Given the description of an element on the screen output the (x, y) to click on. 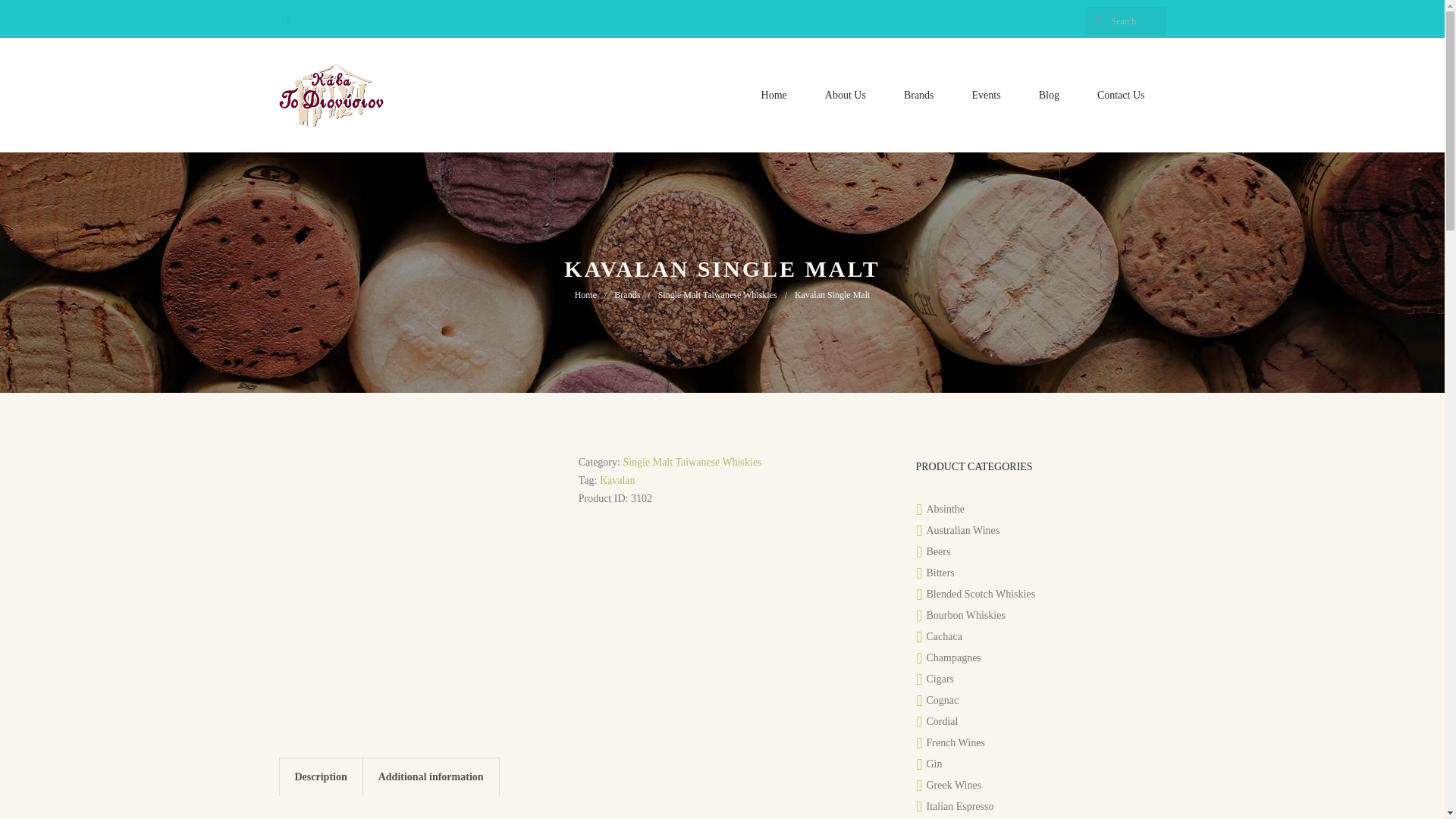
Start search (1097, 20)
Home (774, 94)
Brands (919, 94)
About Us (845, 94)
